Given the description of an element on the screen output the (x, y) to click on. 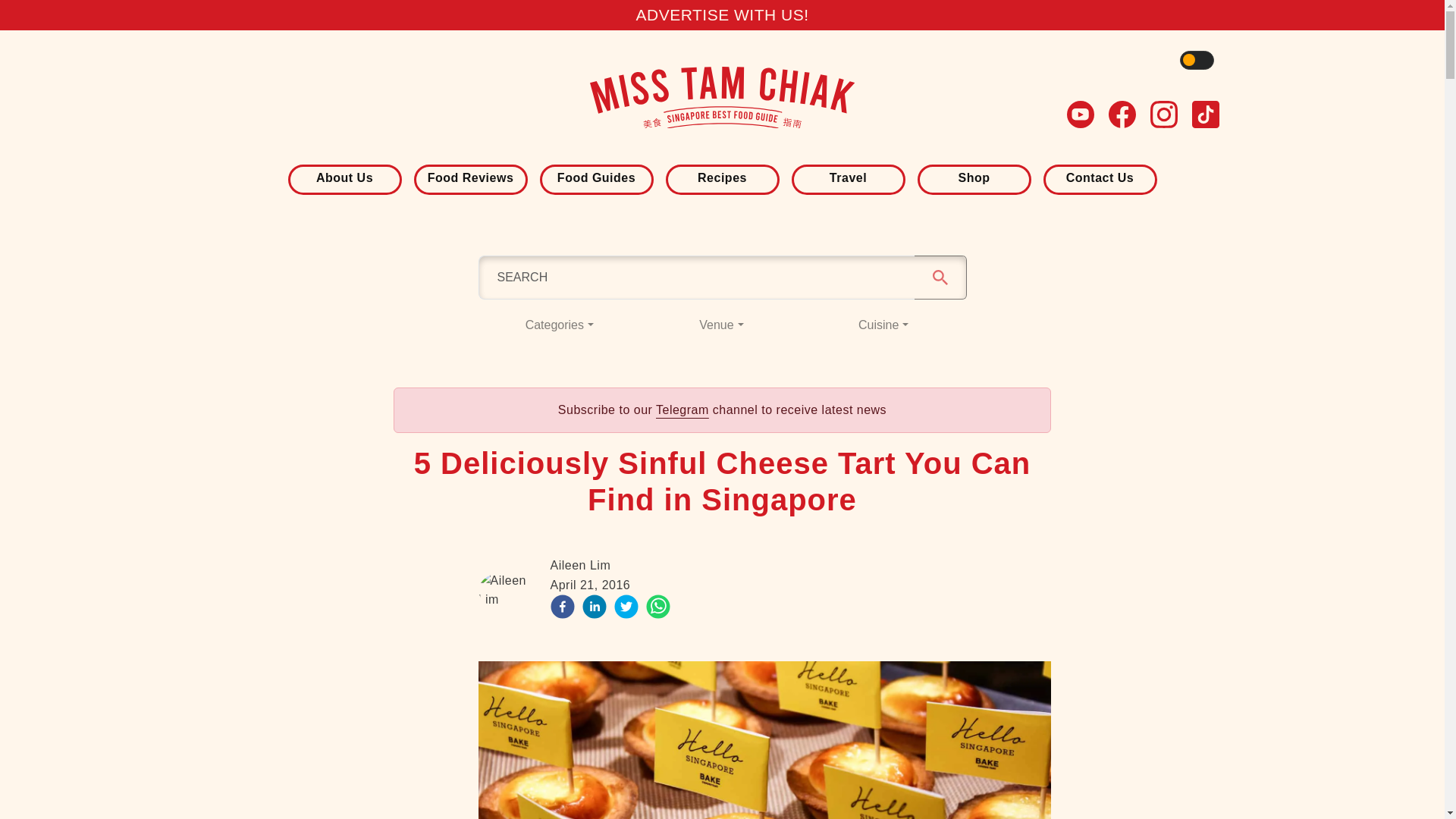
Food Reviews (469, 178)
Telegram (682, 409)
Venue (721, 325)
Categories (558, 325)
Recipes (721, 178)
Travel (847, 178)
Food Guides (595, 178)
About Us (343, 178)
Shop (972, 178)
Contact Us (1099, 178)
